Given the description of an element on the screen output the (x, y) to click on. 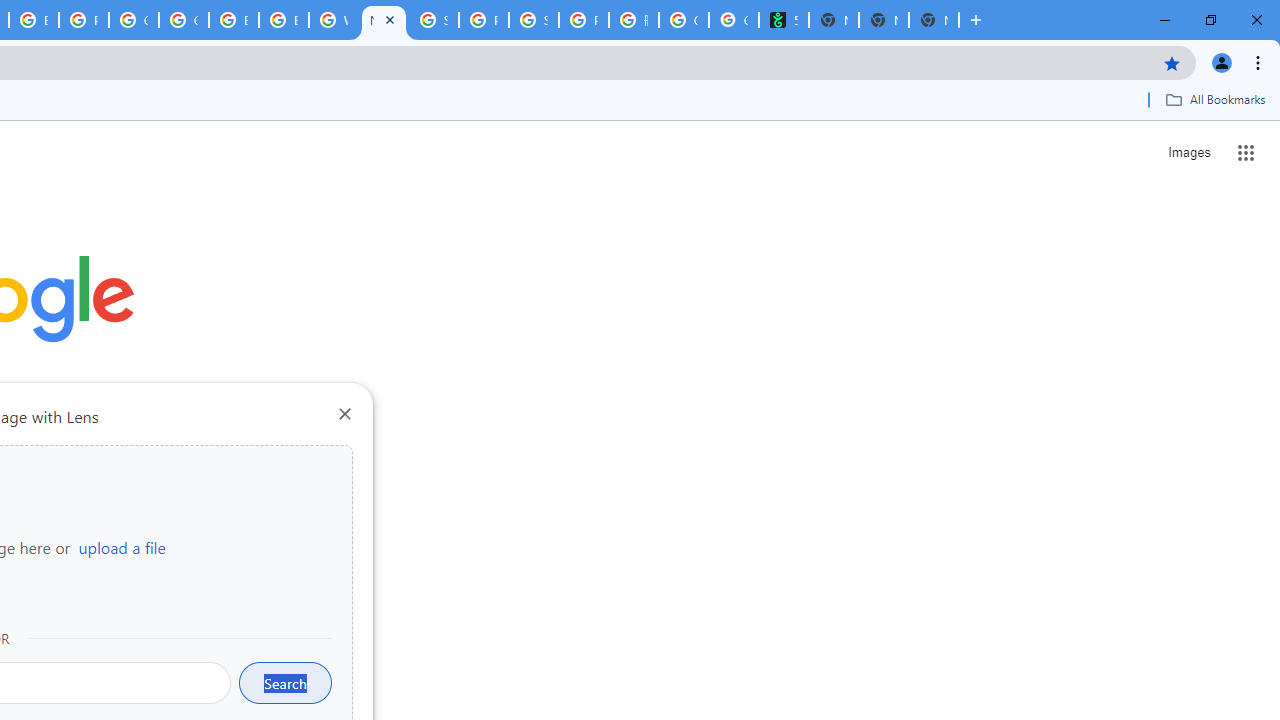
Browse Chrome as a guest - Computer - Google Chrome Help (233, 20)
New Tab (383, 20)
Sign in - Google Accounts (433, 20)
Google Cloud Platform (133, 20)
